Given the description of an element on the screen output the (x, y) to click on. 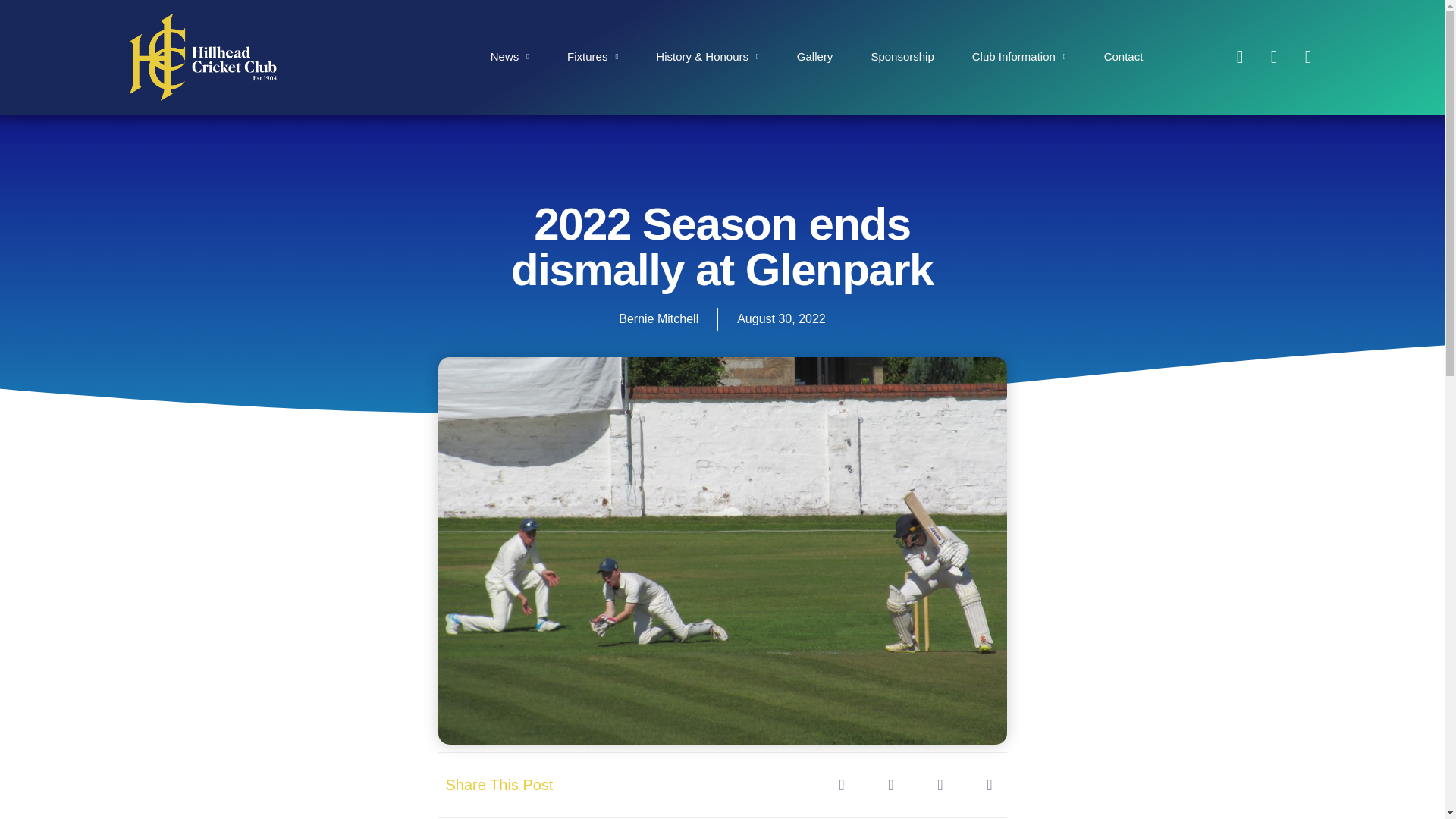
Club Information (1018, 56)
Fixtures (592, 56)
Contact (1122, 56)
Gallery (814, 56)
News (509, 56)
Sponsorship (901, 56)
